Given the description of an element on the screen output the (x, y) to click on. 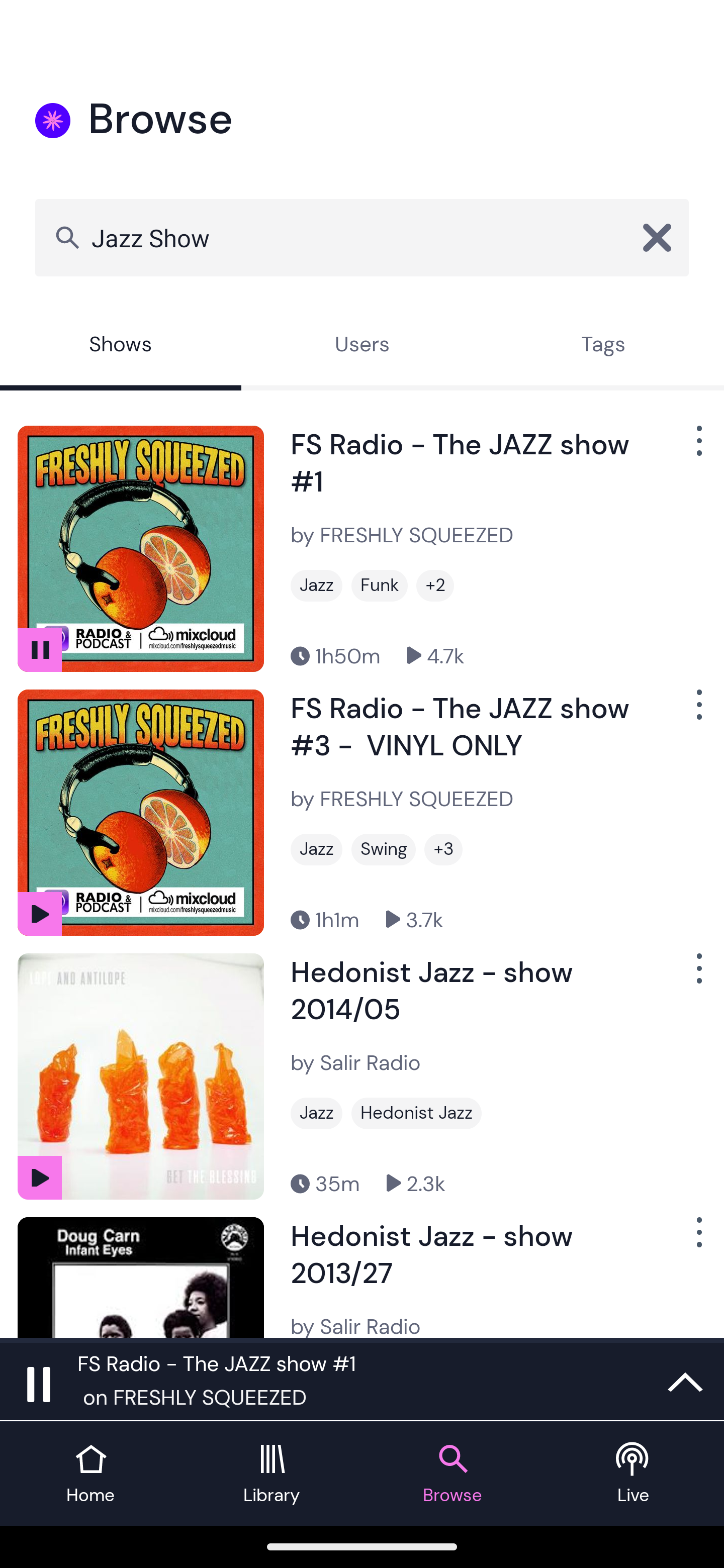
Jazz Show (361, 237)
Shows (120, 346)
Users (361, 346)
Tags (603, 346)
Show Options Menu Button (697, 447)
Jazz (316, 585)
Funk (379, 585)
Show Options Menu Button (697, 712)
Jazz (316, 849)
Swing (383, 849)
Show Options Menu Button (697, 975)
Jazz (316, 1112)
Hedonist Jazz (416, 1112)
Show Options Menu Button (697, 1239)
Home tab Home (90, 1473)
Library tab Library (271, 1473)
Browse tab Browse (452, 1473)
Live tab Live (633, 1473)
